Given the description of an element on the screen output the (x, y) to click on. 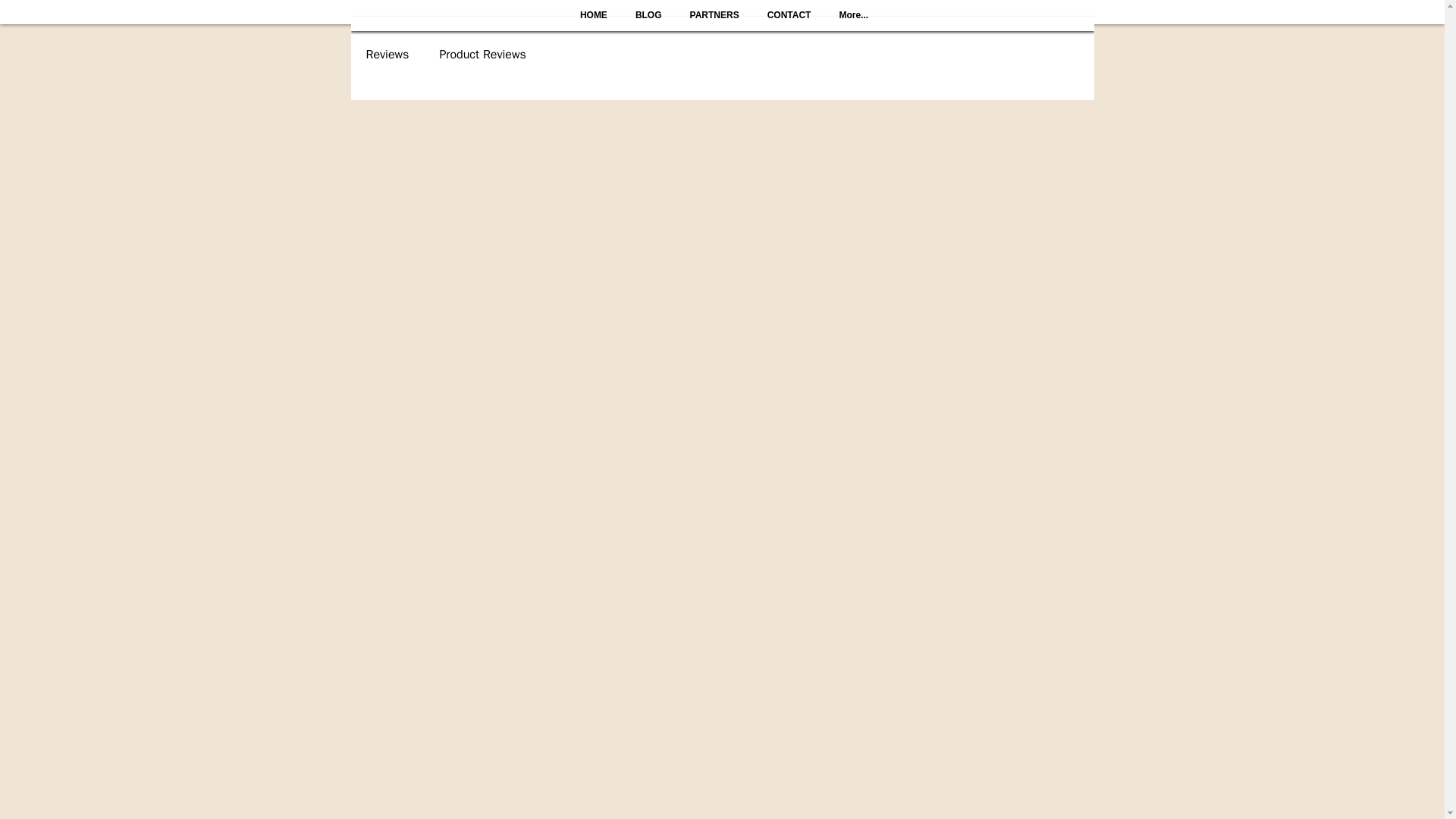
Reviews (387, 54)
PARTNERS (714, 23)
BLOG (648, 23)
CONTACT (789, 23)
HOME (593, 23)
Product Reviews (482, 54)
